Given the description of an element on the screen output the (x, y) to click on. 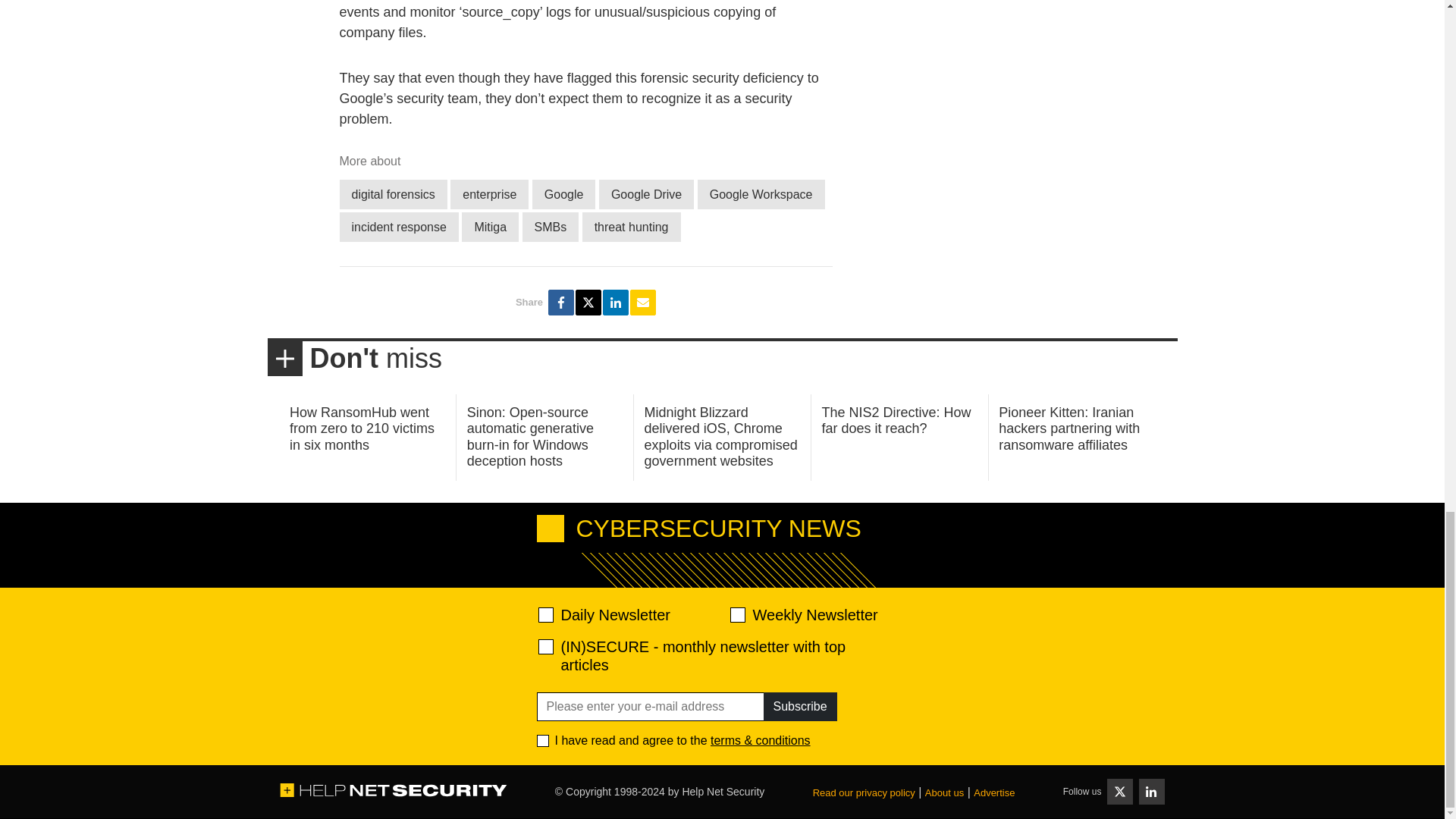
Mitiga (489, 226)
incident response (398, 226)
Google Workspace (761, 194)
digital forensics (392, 194)
1 (542, 740)
incident response (398, 226)
d2d471aafa (736, 614)
Google (563, 194)
Mitiga (489, 226)
digital forensics (392, 194)
